Given the description of an element on the screen output the (x, y) to click on. 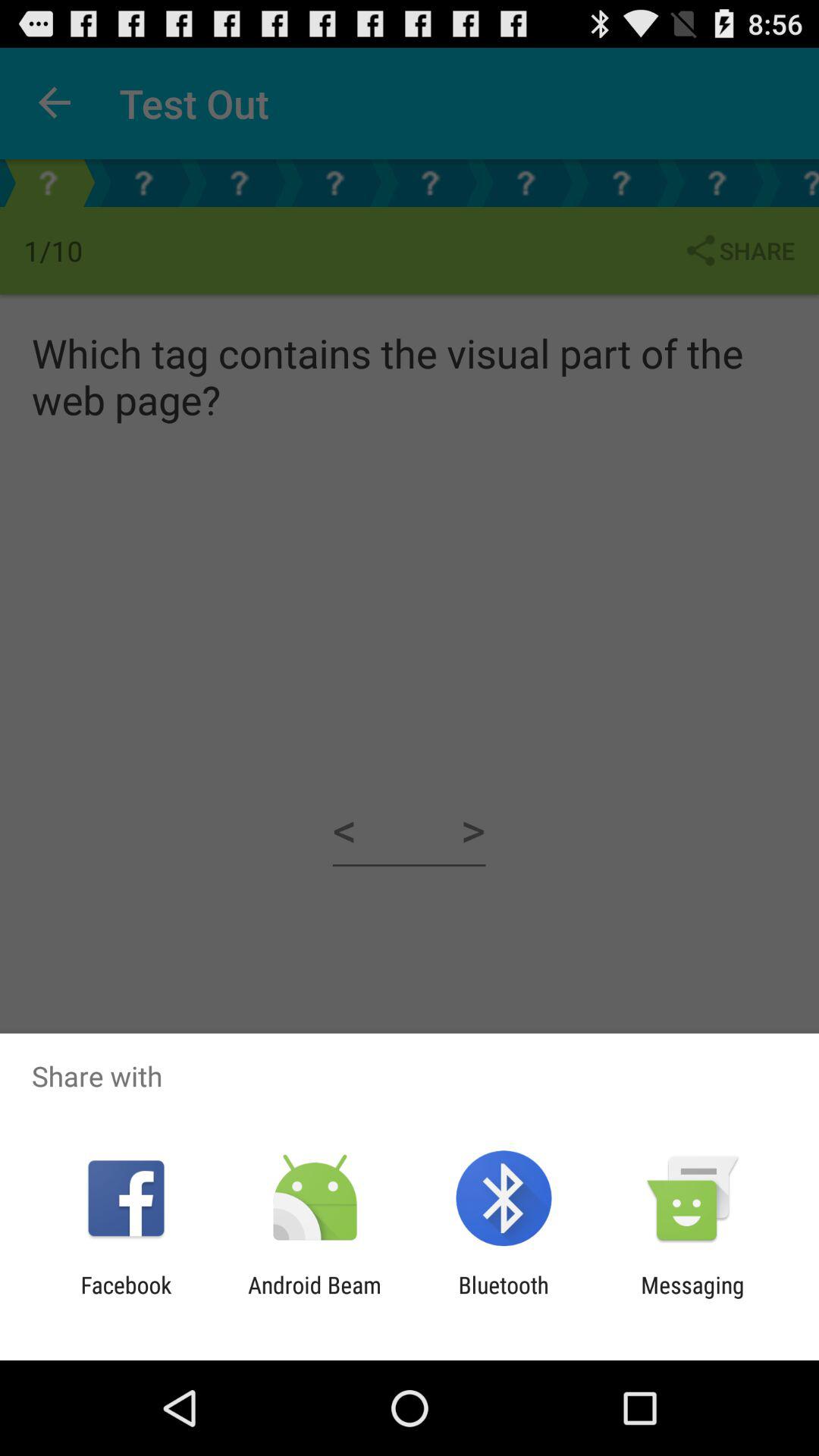
swipe to the bluetooth (503, 1298)
